Given the description of an element on the screen output the (x, y) to click on. 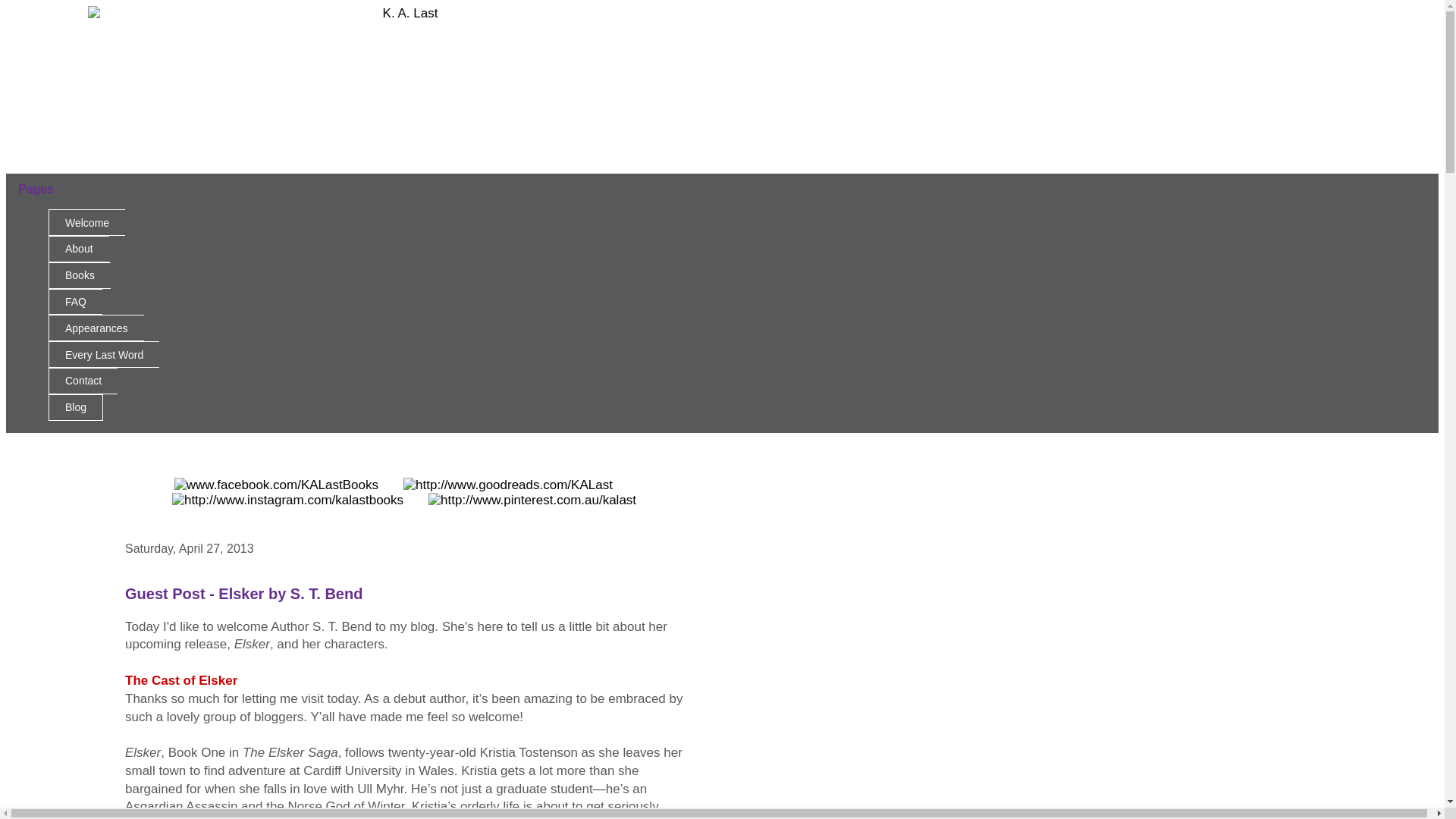
Books Element type: text (79, 275)
Blog Element type: text (75, 407)
FAQ Element type: text (75, 301)
Appearances Element type: text (96, 327)
Every Last Word Element type: text (103, 354)
Welcome Element type: text (86, 222)
About Element type: text (78, 248)
Contact Element type: text (82, 380)
